Given the description of an element on the screen output the (x, y) to click on. 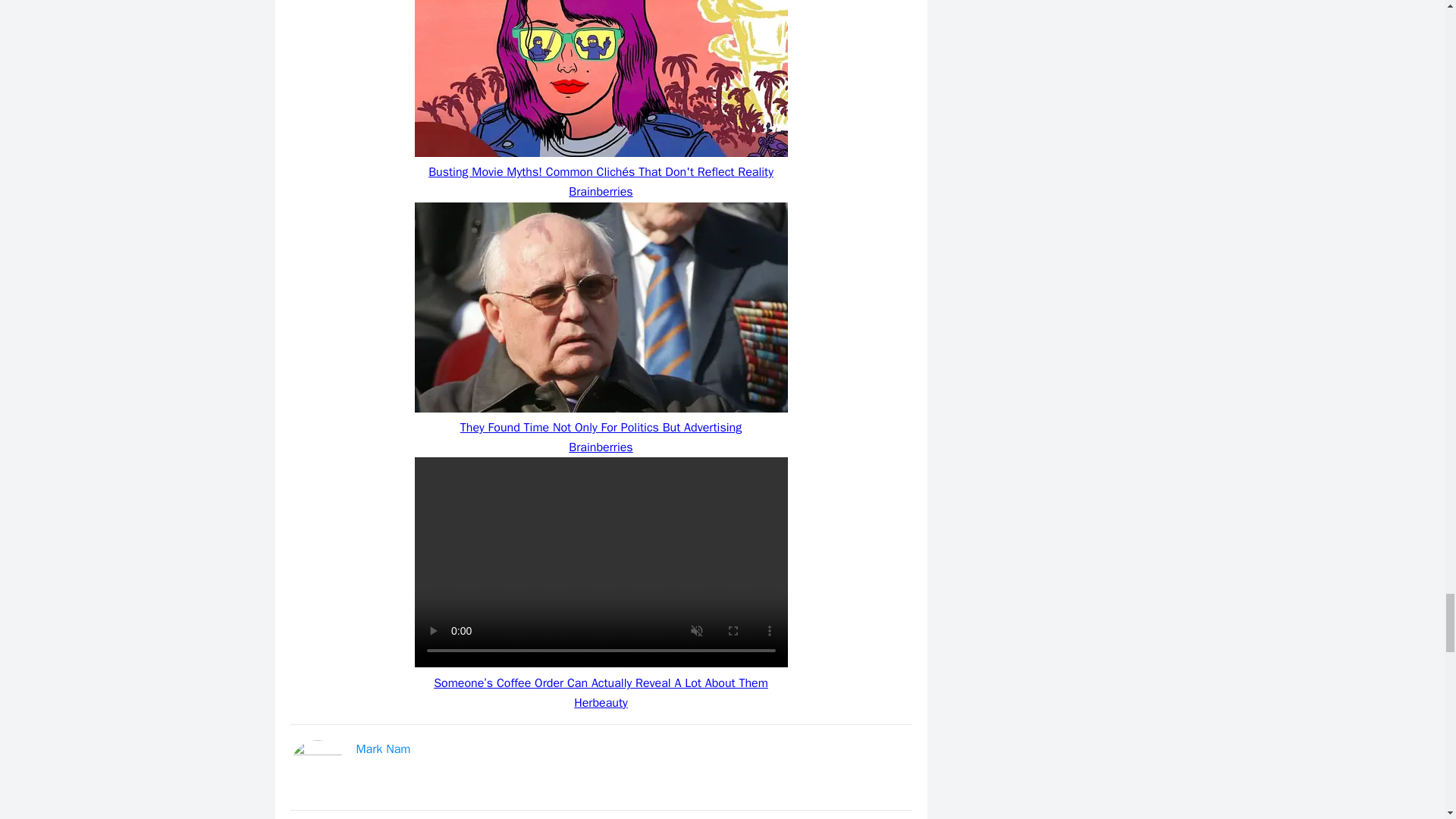
Mark Nam (383, 749)
